Given the description of an element on the screen output the (x, y) to click on. 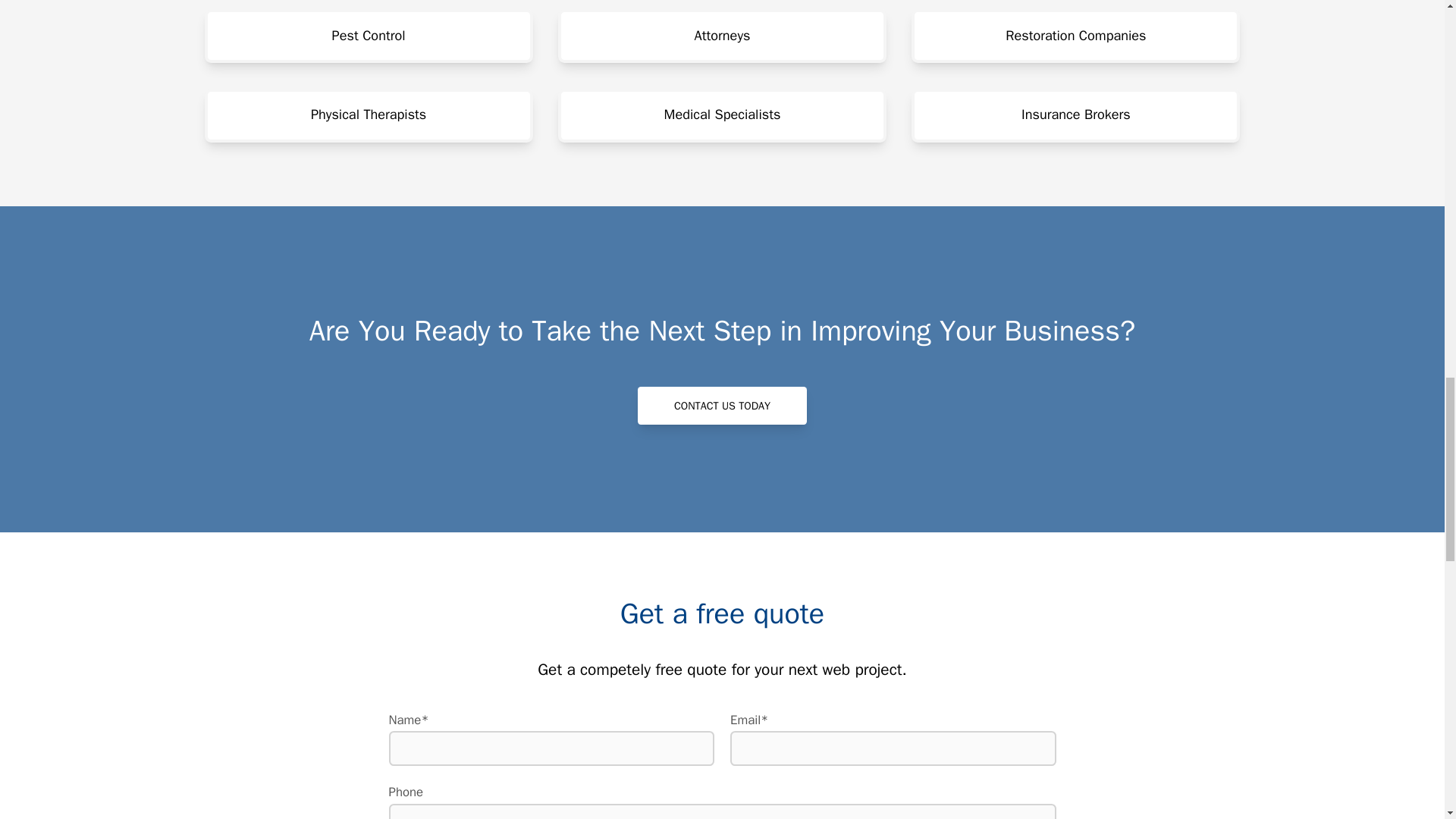
CONTACT US TODAY (722, 405)
